Given the description of an element on the screen output the (x, y) to click on. 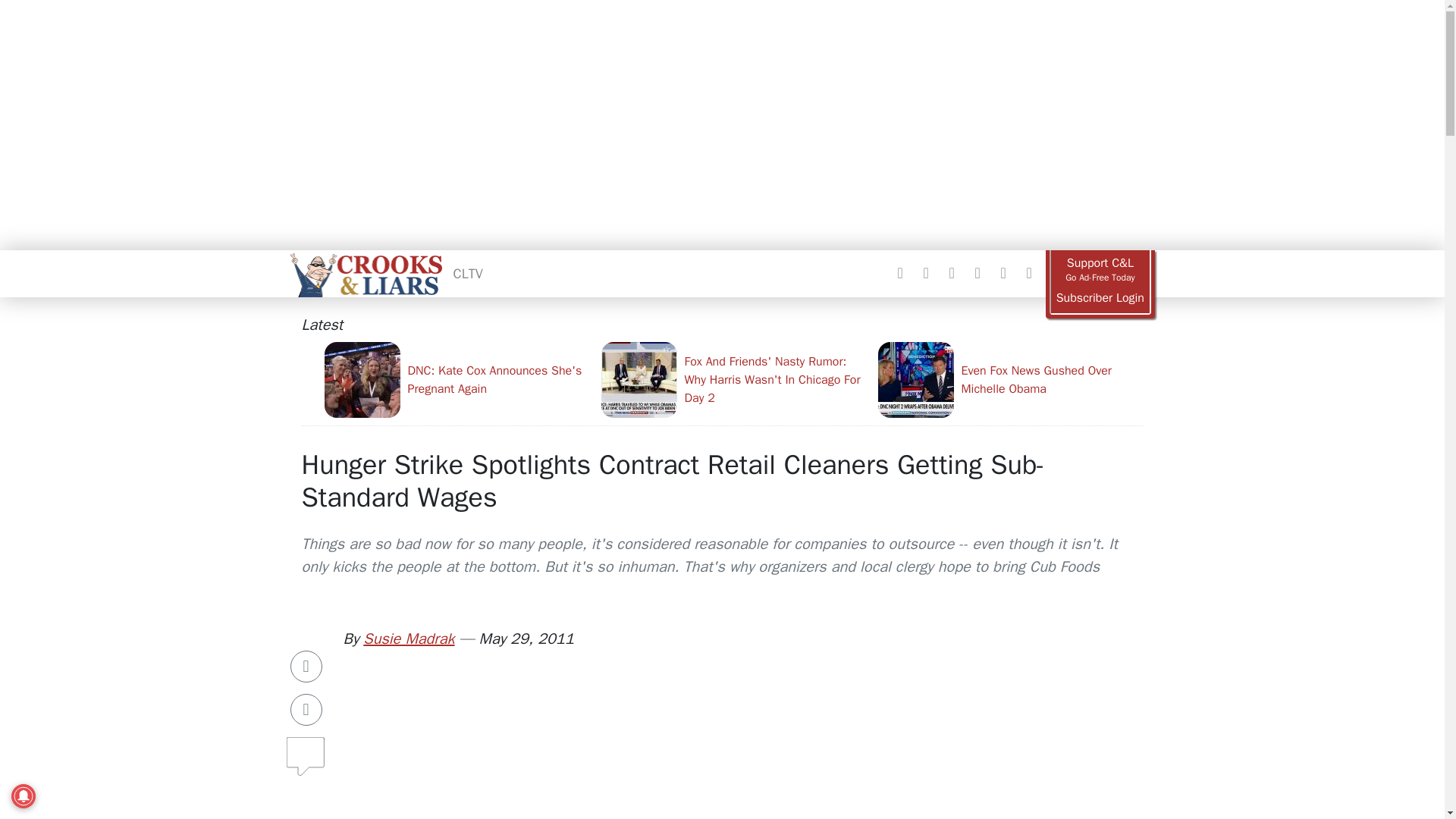
Login to your ad free account (1099, 298)
DNC: Kate Cox Announces She's Pregnant Again (456, 379)
Even Fox News Gushed Over Michelle Obama (1009, 379)
DNC: Kate Cox Announces She's Pregnant Again (456, 379)
Comments (306, 750)
Even Fox News Gushed Over Michelle Obama (1009, 379)
Subscriber Login (1099, 298)
CLTV (467, 273)
